Given the description of an element on the screen output the (x, y) to click on. 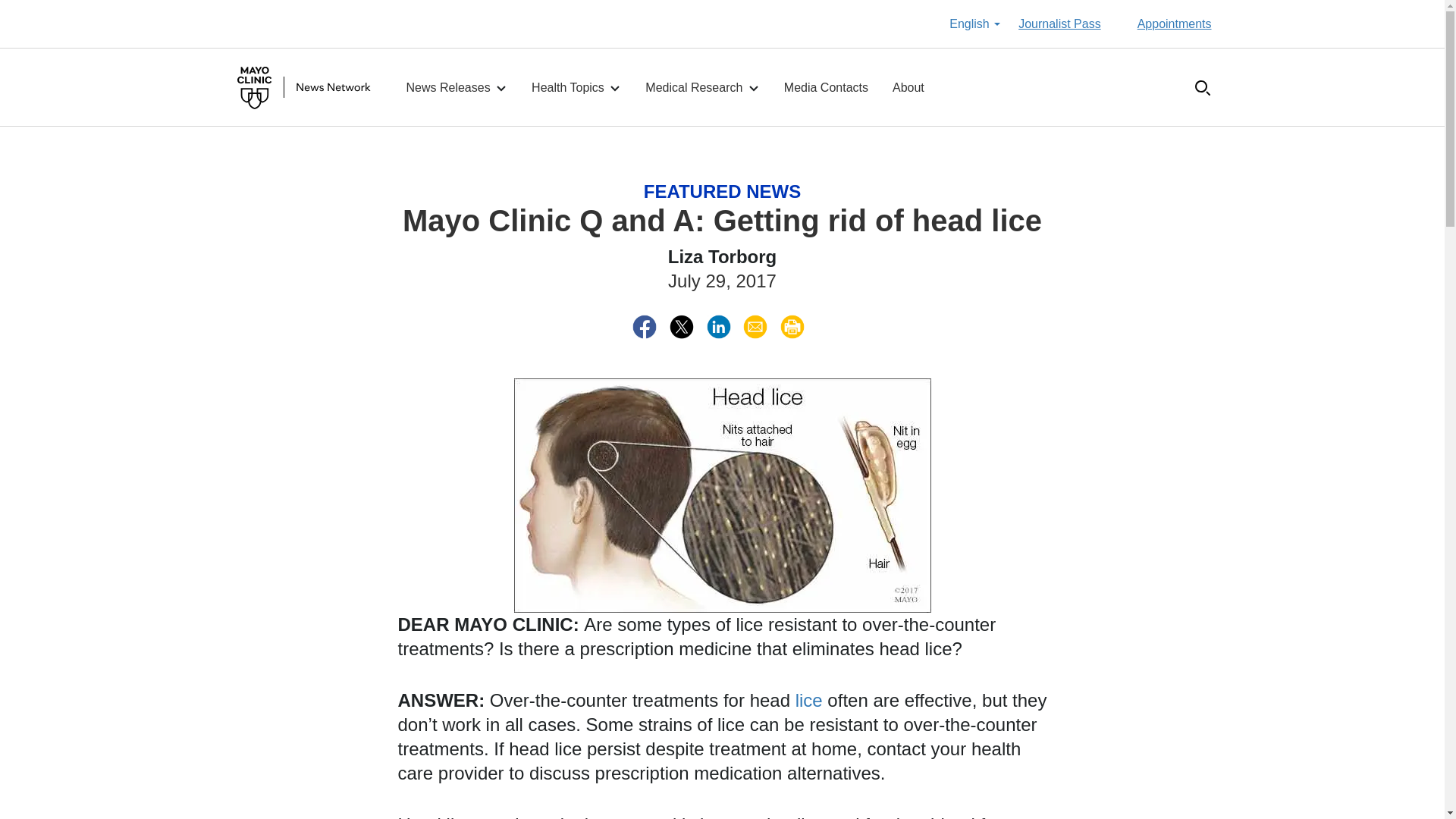
Journalist Pass (1058, 23)
English (974, 23)
Health Topics (576, 87)
News Releases (457, 87)
English (974, 23)
Medical Research (702, 87)
Appointments (1174, 24)
News Releases (457, 87)
Journalist Pass (1058, 23)
Health Topics (576, 87)
